Given the description of an element on the screen output the (x, y) to click on. 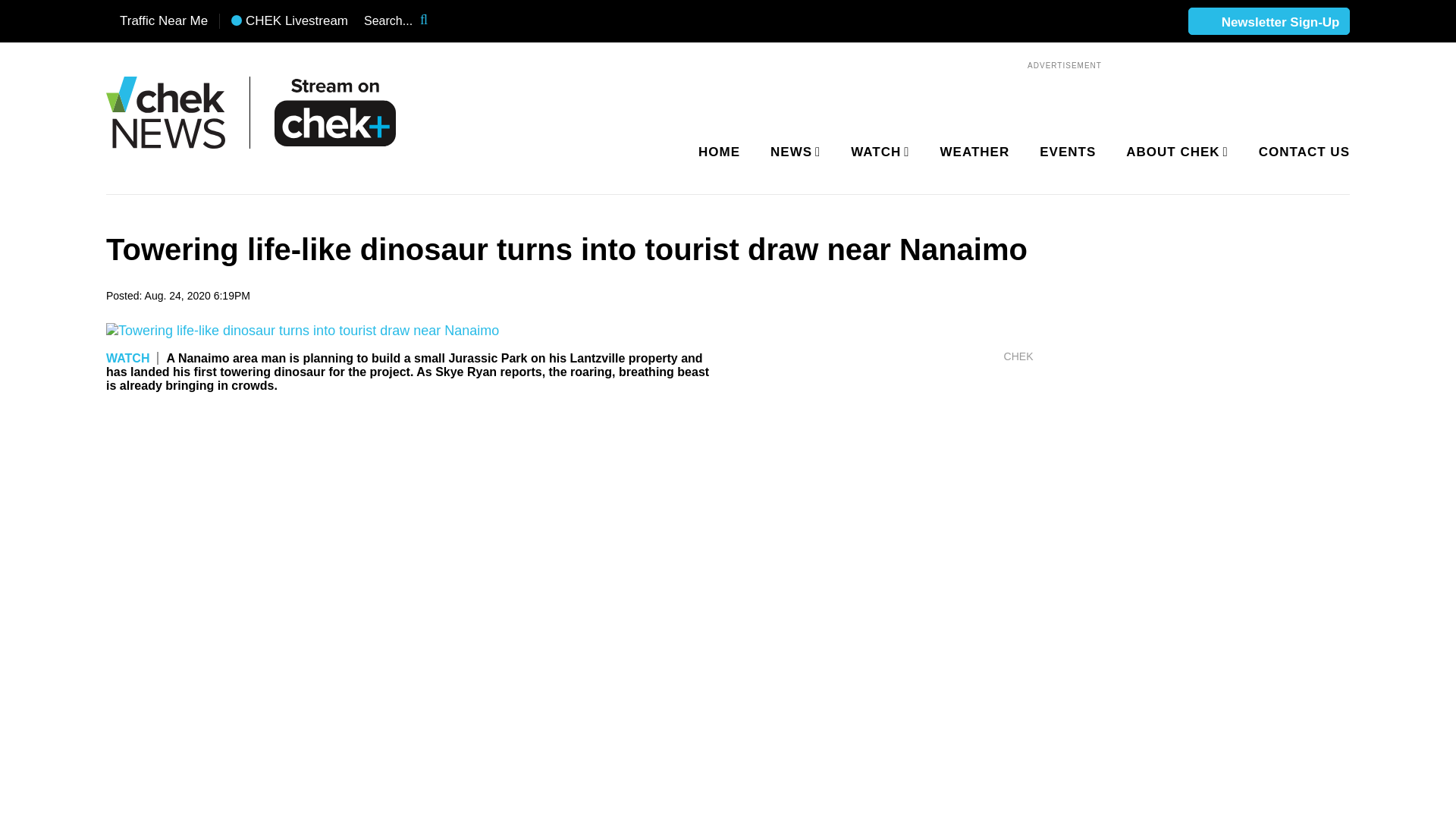
HOME (718, 152)
Newsletter Sign-Up (1268, 22)
Traffic Near Me (157, 20)
Search (434, 21)
NEWS (792, 152)
CHEK Livestream (289, 20)
